Given the description of an element on the screen output the (x, y) to click on. 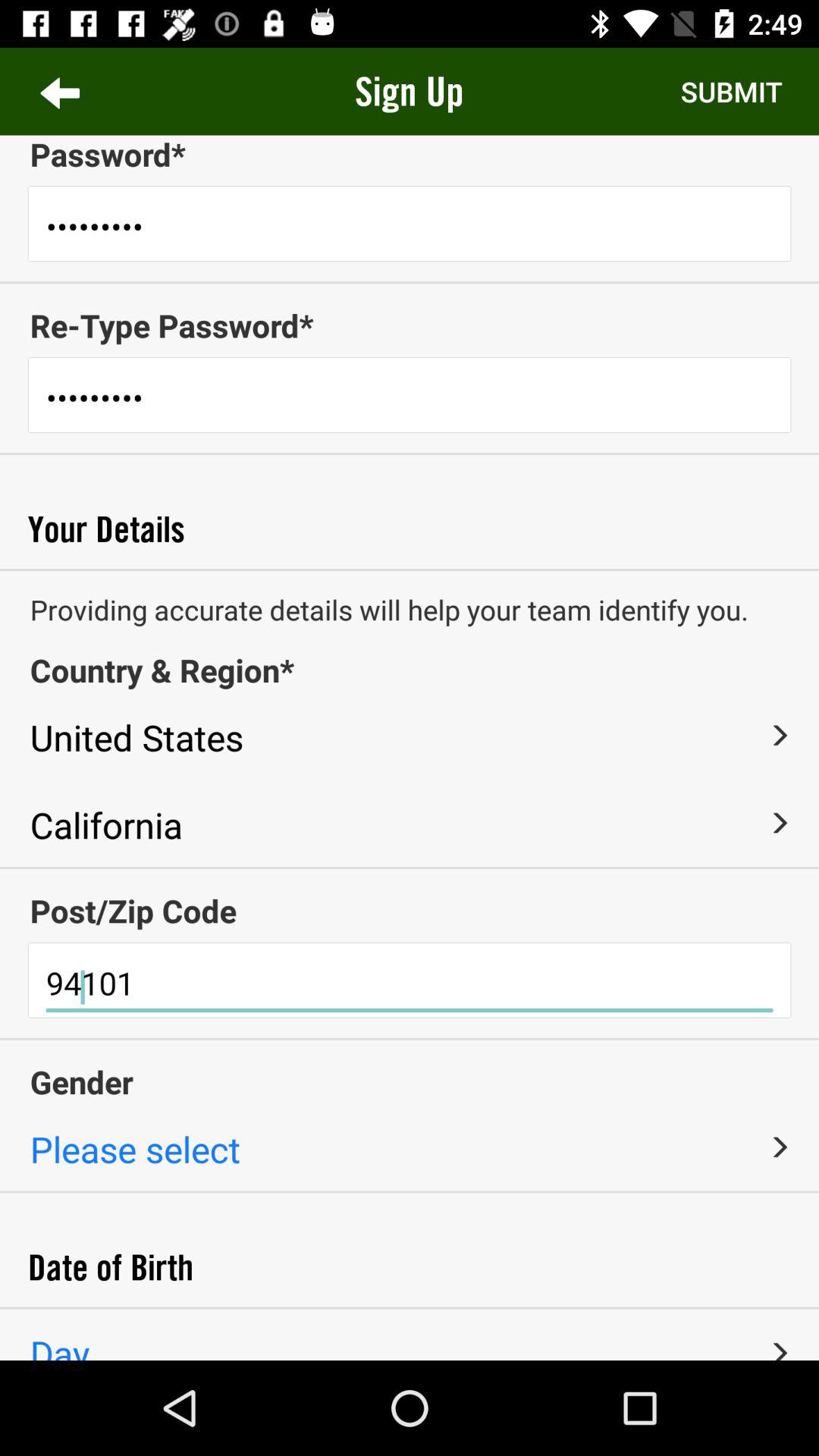
select icon above the 94101 item (409, 910)
